Given the description of an element on the screen output the (x, y) to click on. 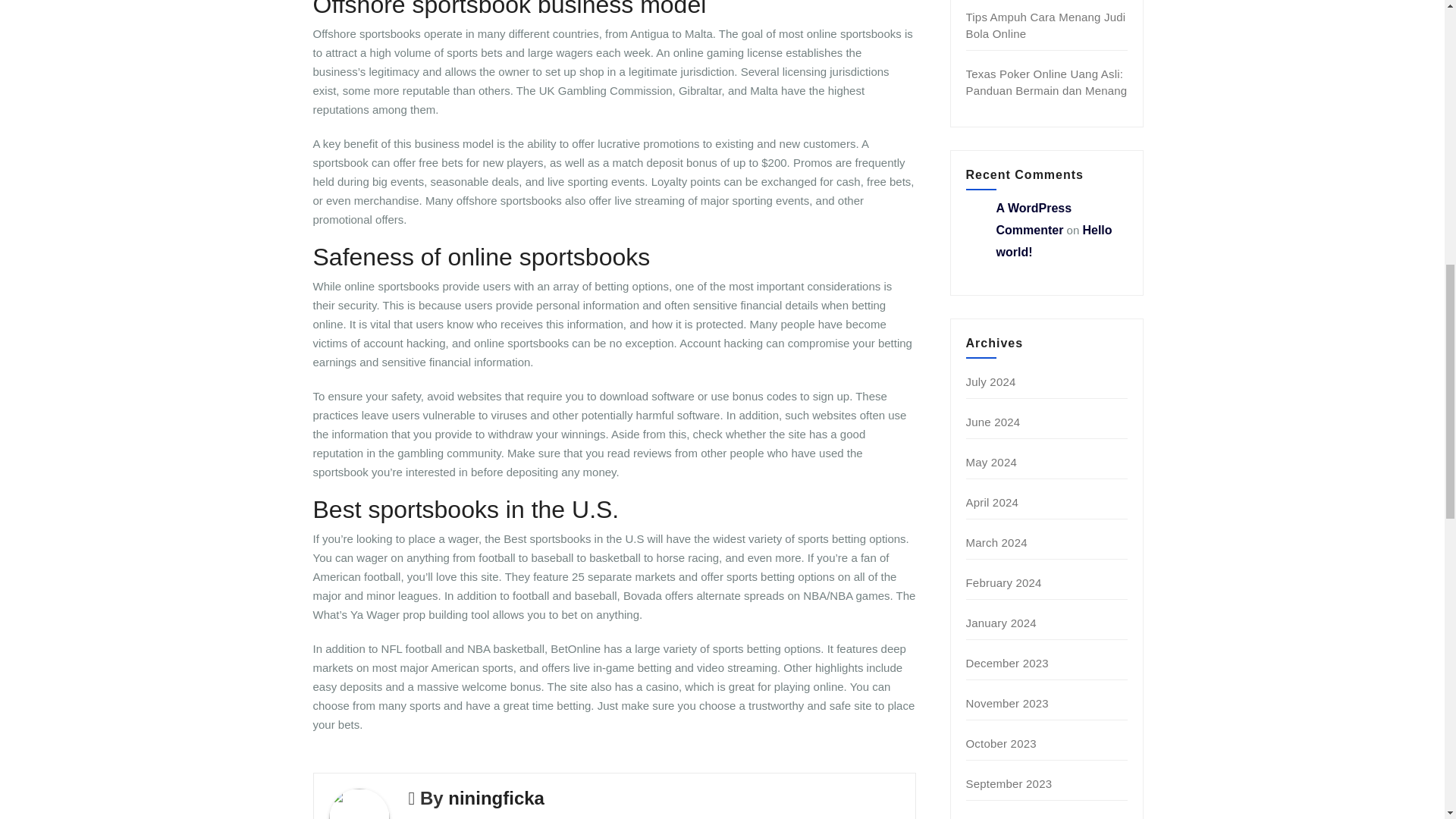
April 2024 (992, 502)
December 2023 (1007, 662)
October 2023 (1001, 743)
February 2024 (1004, 582)
January 2024 (1001, 622)
July 2024 (991, 381)
September 2023 (1009, 783)
A WordPress Commenter (1033, 218)
August 2023 (998, 818)
niningficka (496, 797)
May 2024 (991, 461)
Texas Poker Online Uang Asli: Panduan Bermain dan Menang (1046, 82)
June 2024 (993, 421)
November 2023 (1007, 703)
Hello world! (1053, 240)
